Given the description of an element on the screen output the (x, y) to click on. 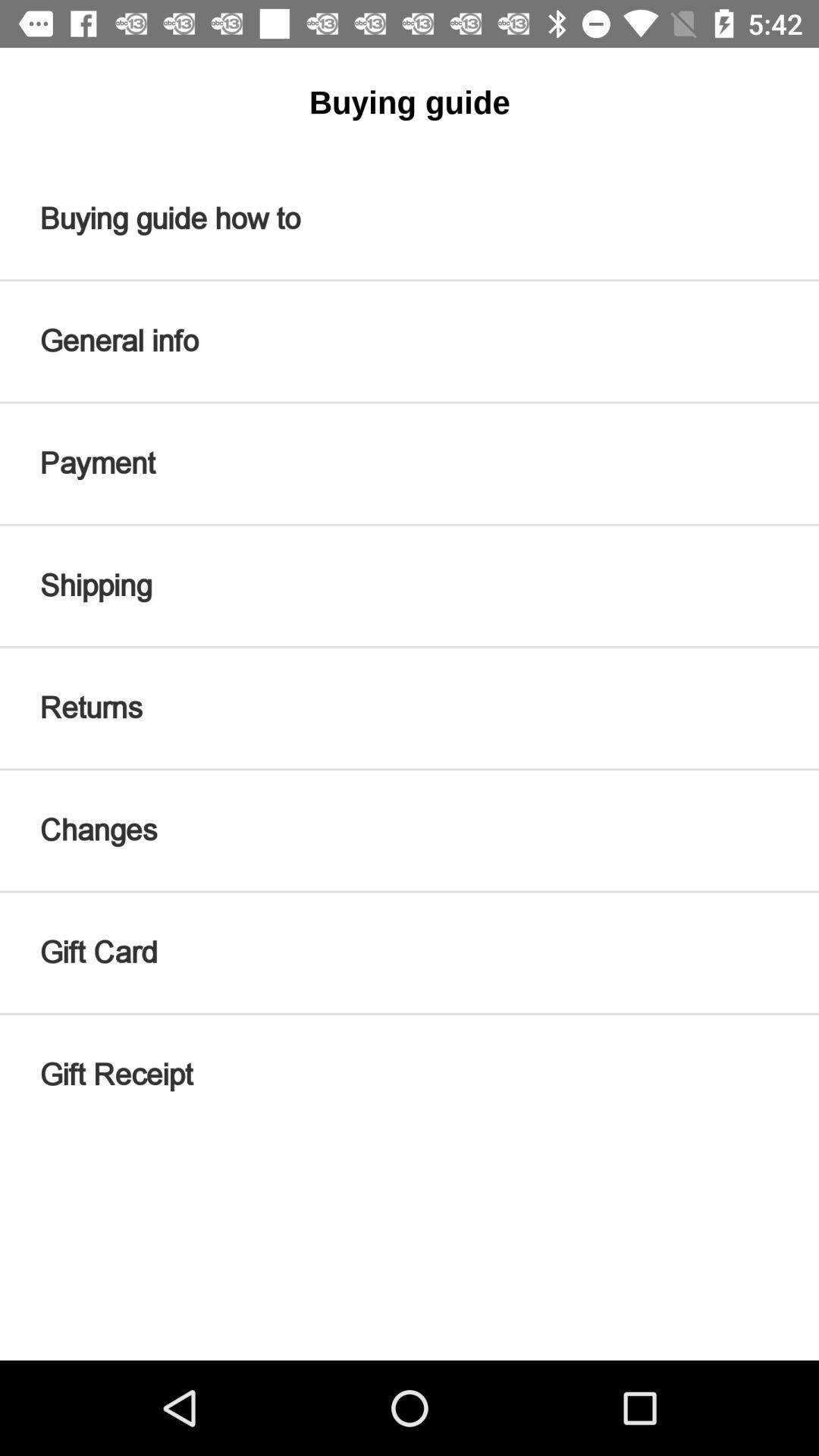
turn on the item above returns item (409, 586)
